Given the description of an element on the screen output the (x, y) to click on. 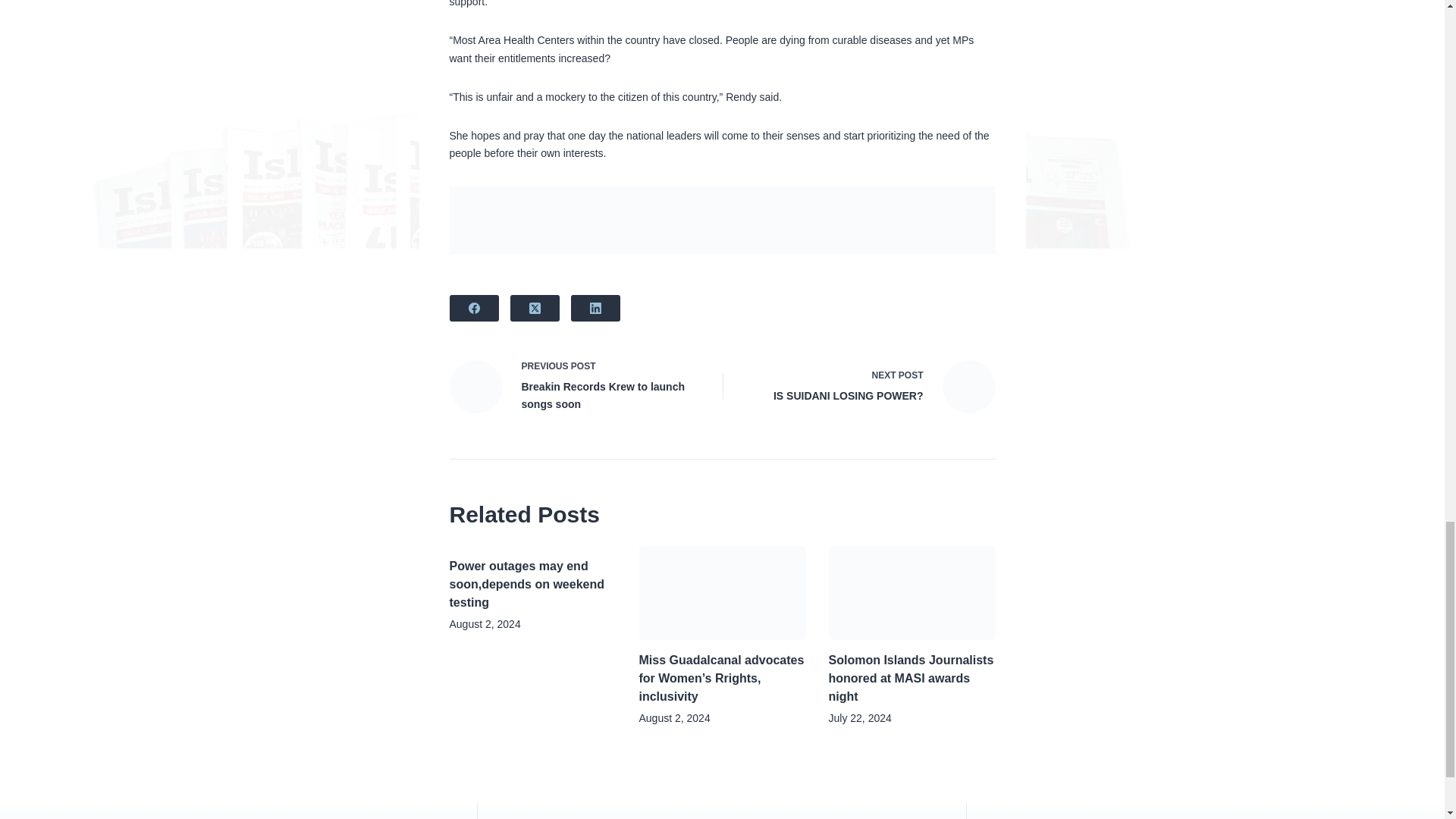
Power outages may end soon,depends on weekend testing (574, 386)
